Given the description of an element on the screen output the (x, y) to click on. 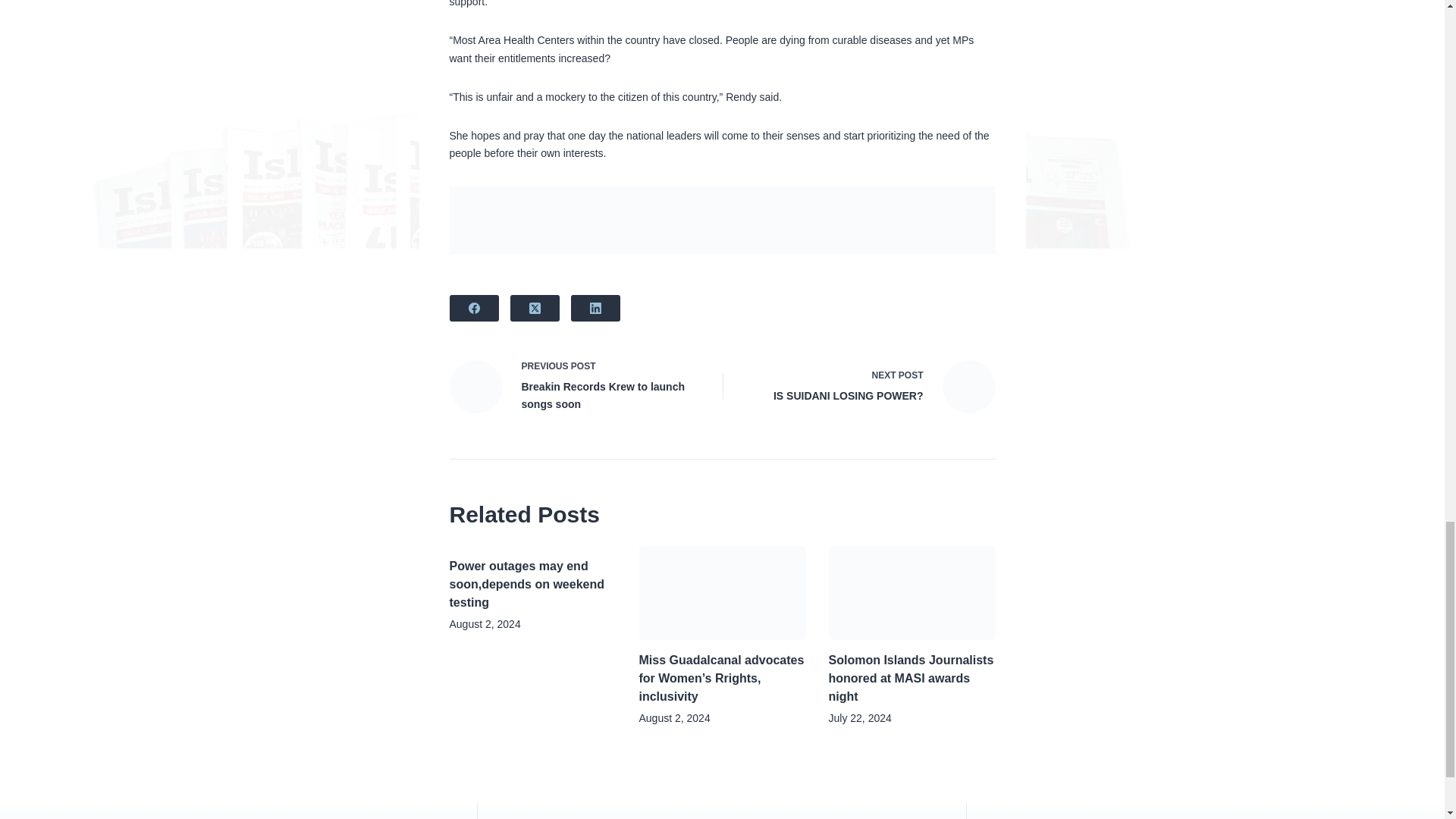
Power outages may end soon,depends on weekend testing (574, 386)
